Given the description of an element on the screen output the (x, y) to click on. 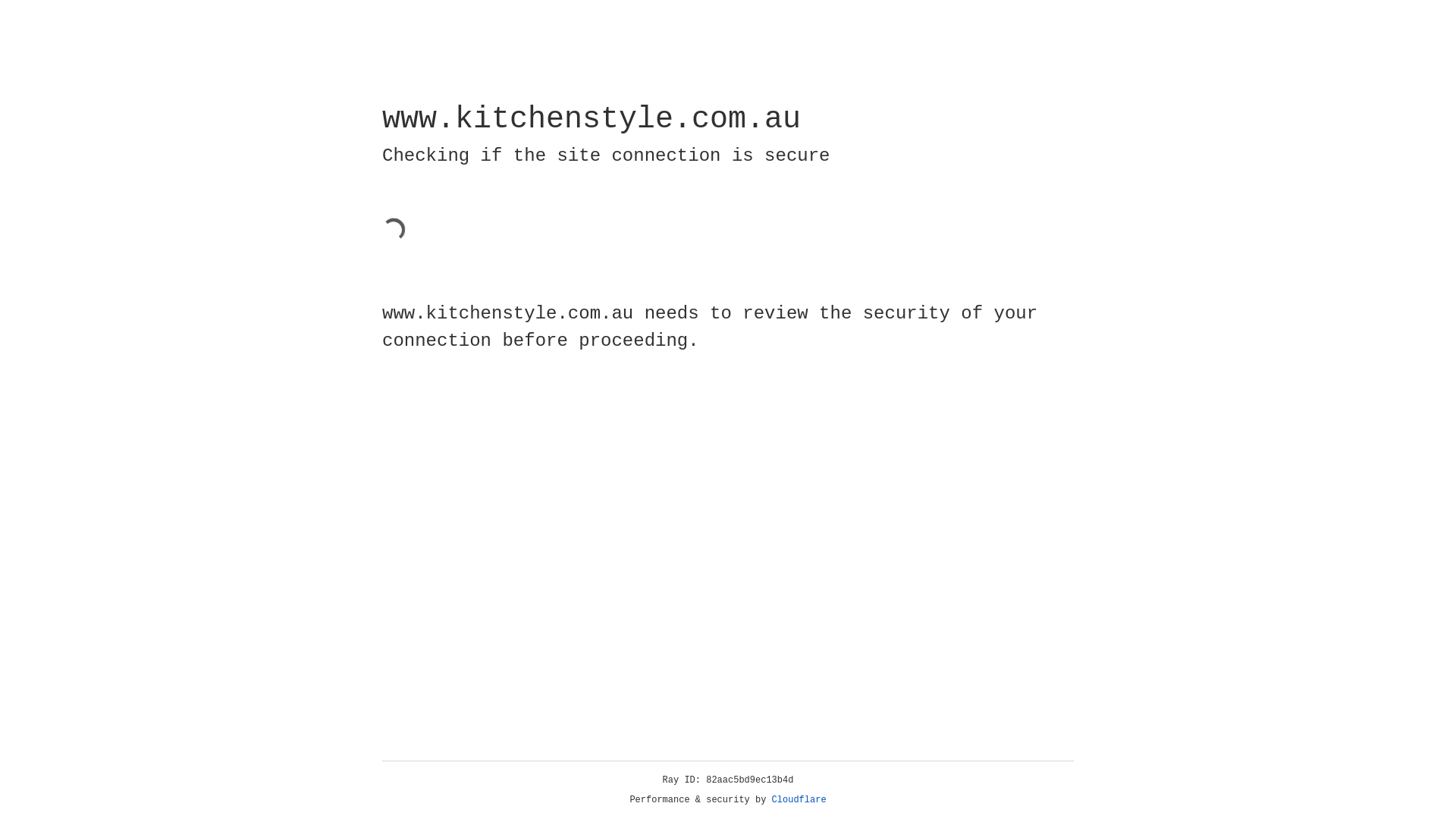
Cloudflare Element type: text (798, 799)
